Given the description of an element on the screen output the (x, y) to click on. 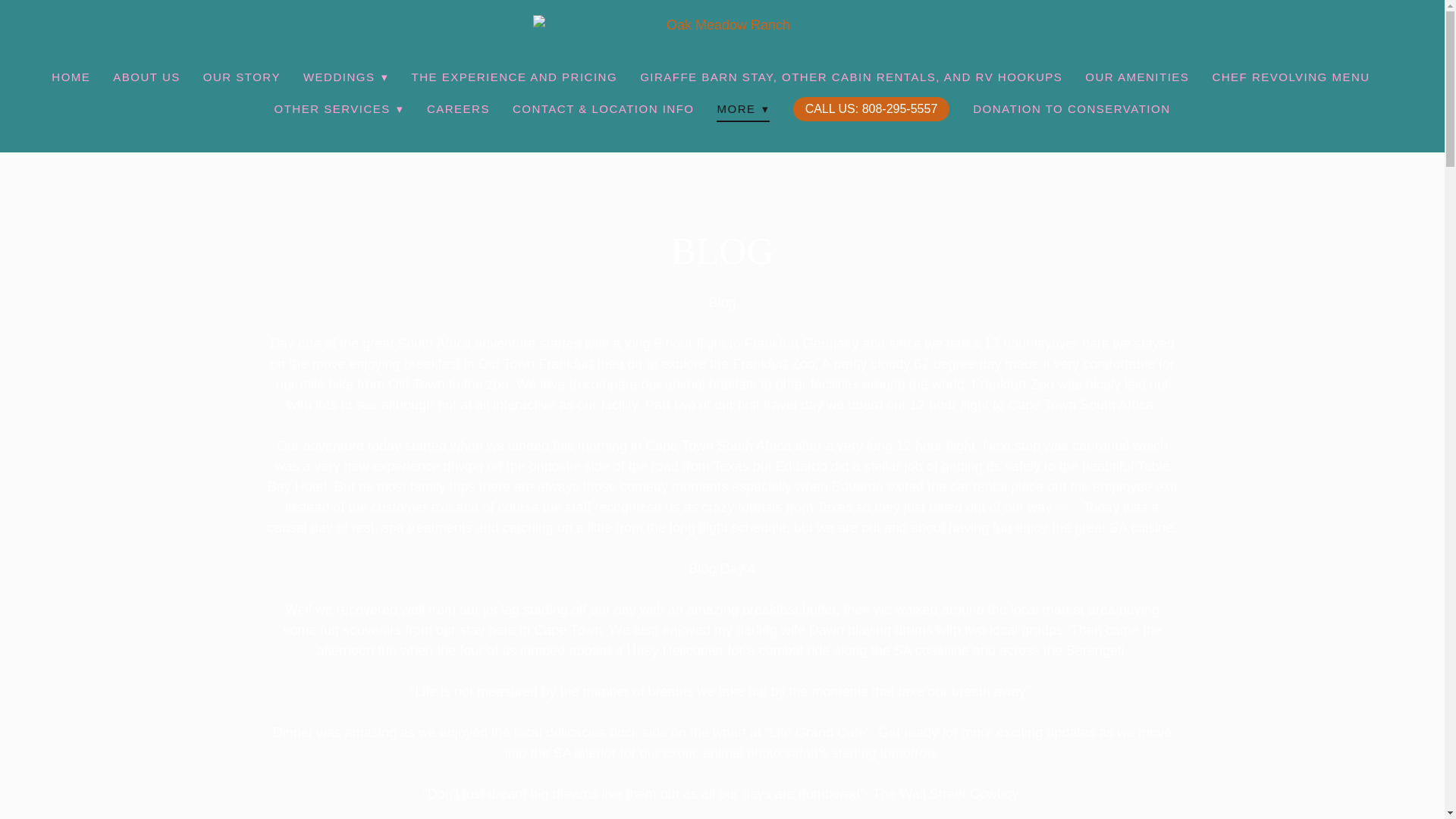
GIRAFFE BARN STAY, OTHER CABIN RENTALS, AND RV HOOKUPS (851, 77)
DONATION TO CONSERVATION (1071, 108)
Oak Meadow Ranch (721, 25)
CHEF REVOLVING MENU (1290, 77)
ABOUT US (146, 77)
CAREERS (457, 108)
OUR STORY (242, 77)
CALL US: 808-295-5557 (871, 109)
HOME (70, 77)
THE EXPERIENCE AND PRICING (514, 77)
OUR AMENITIES (1136, 77)
